Given the description of an element on the screen output the (x, y) to click on. 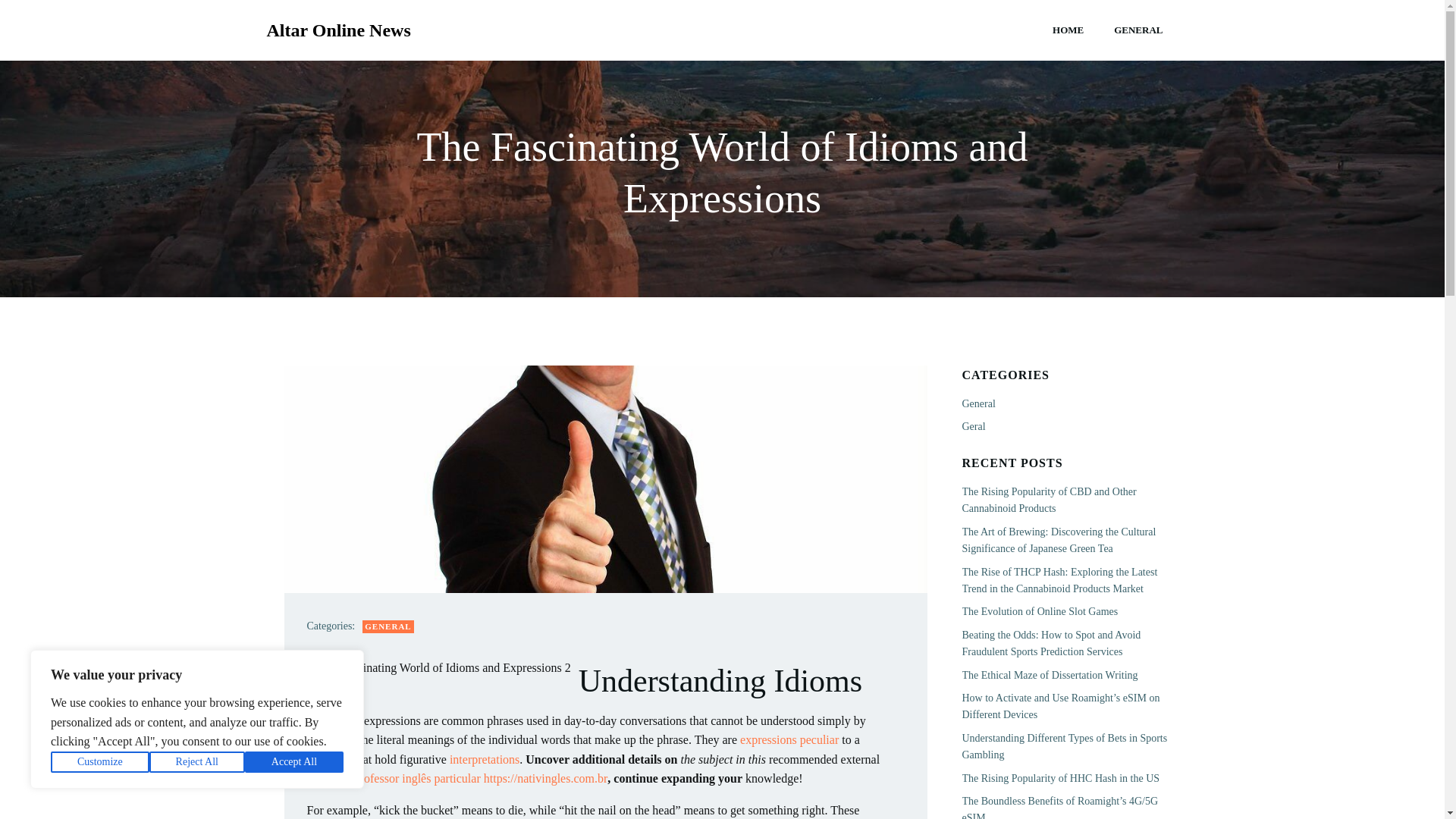
GENERAL (387, 626)
Geral (972, 426)
interpretations (484, 758)
Reject All (196, 762)
expressions peculiar (788, 739)
Altar Online News (338, 30)
Customize (99, 762)
The Rising Popularity of CBD and Other Cannabinoid Products (1047, 500)
HOME (1067, 29)
General (977, 403)
GENERAL (1137, 29)
Accept All (293, 762)
